Given the description of an element on the screen output the (x, y) to click on. 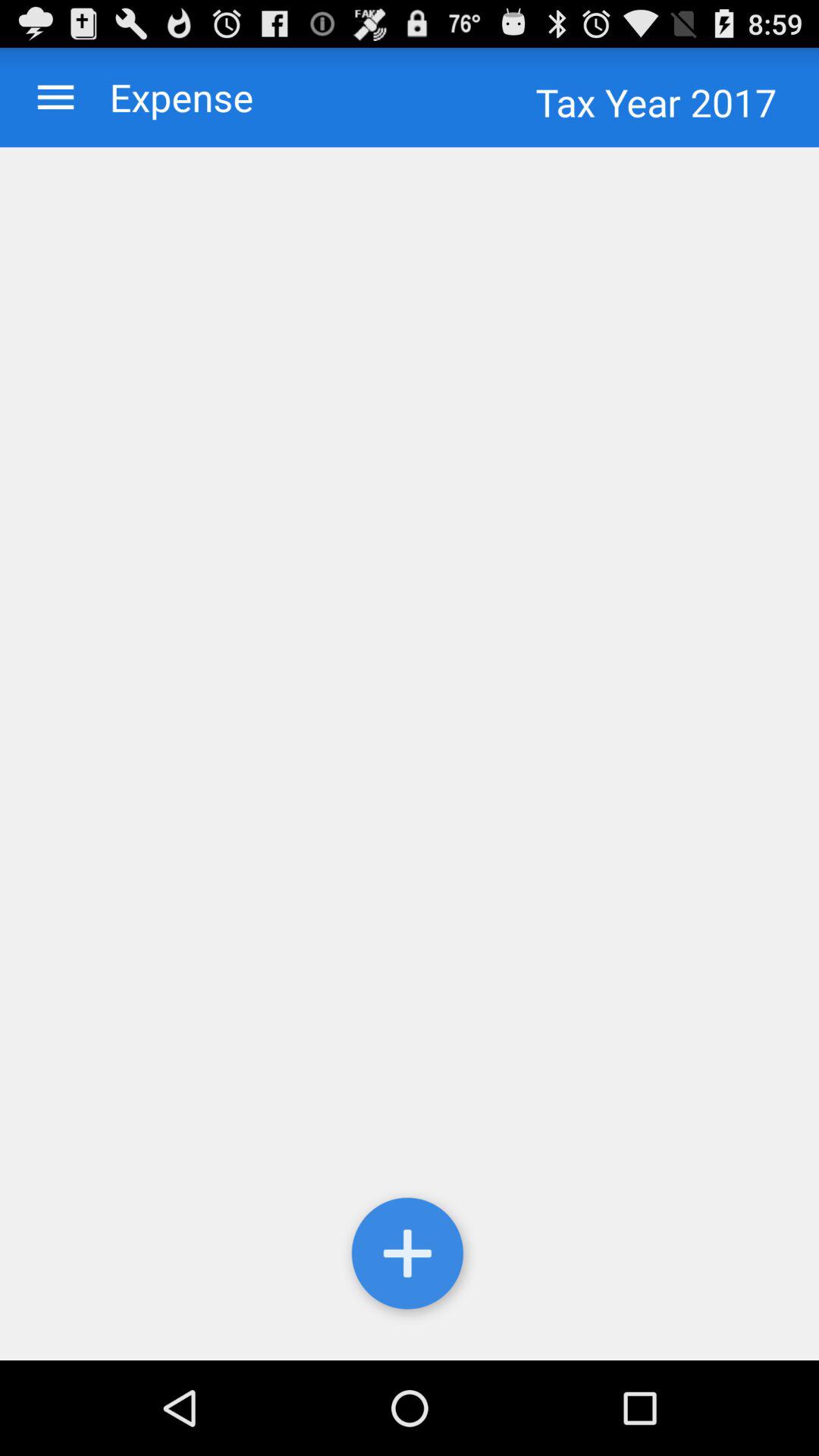
choose the icon at the bottom (409, 1256)
